Given the description of an element on the screen output the (x, y) to click on. 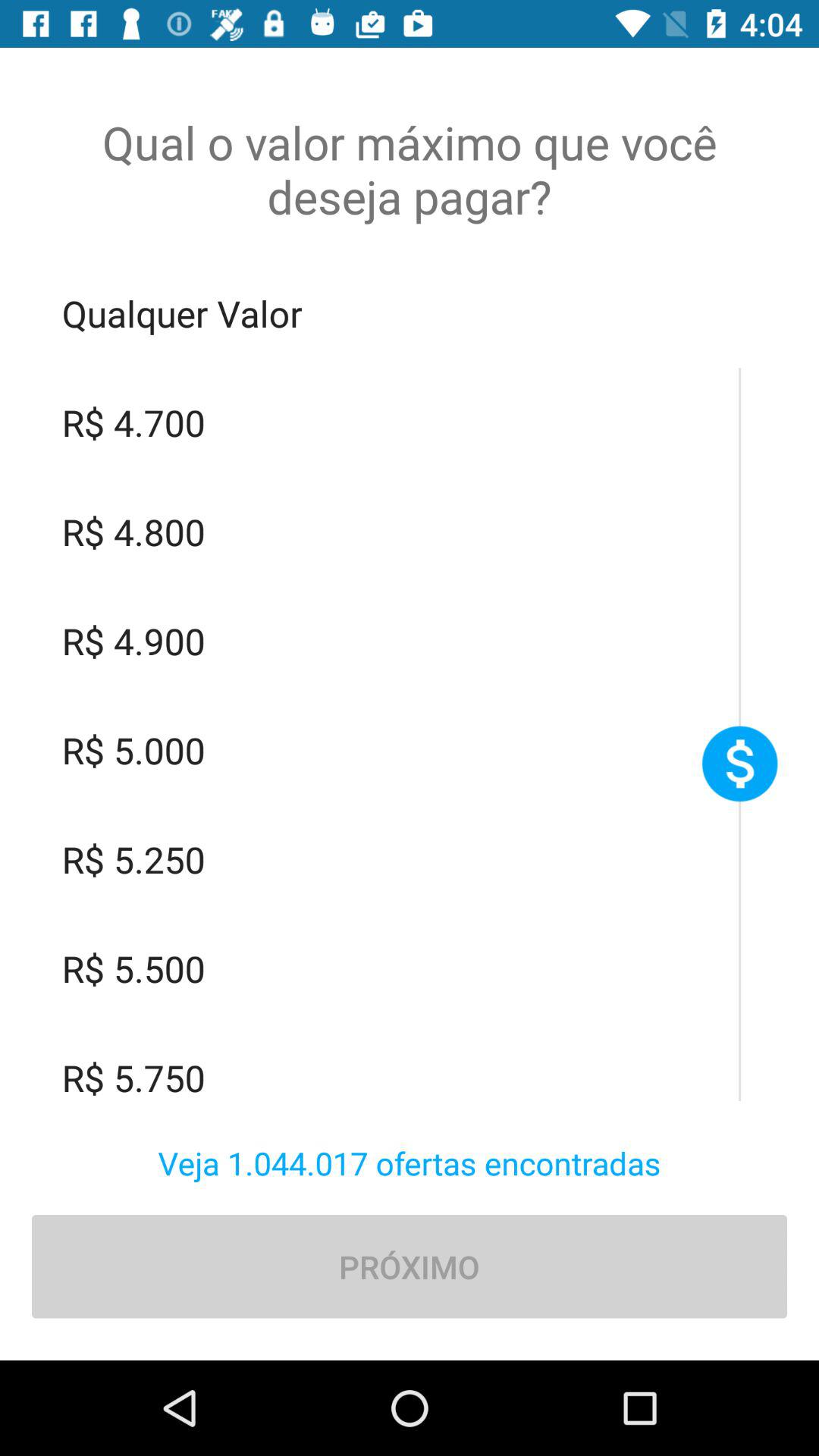
jump to qualquer valor (409, 312)
